Given the description of an element on the screen output the (x, y) to click on. 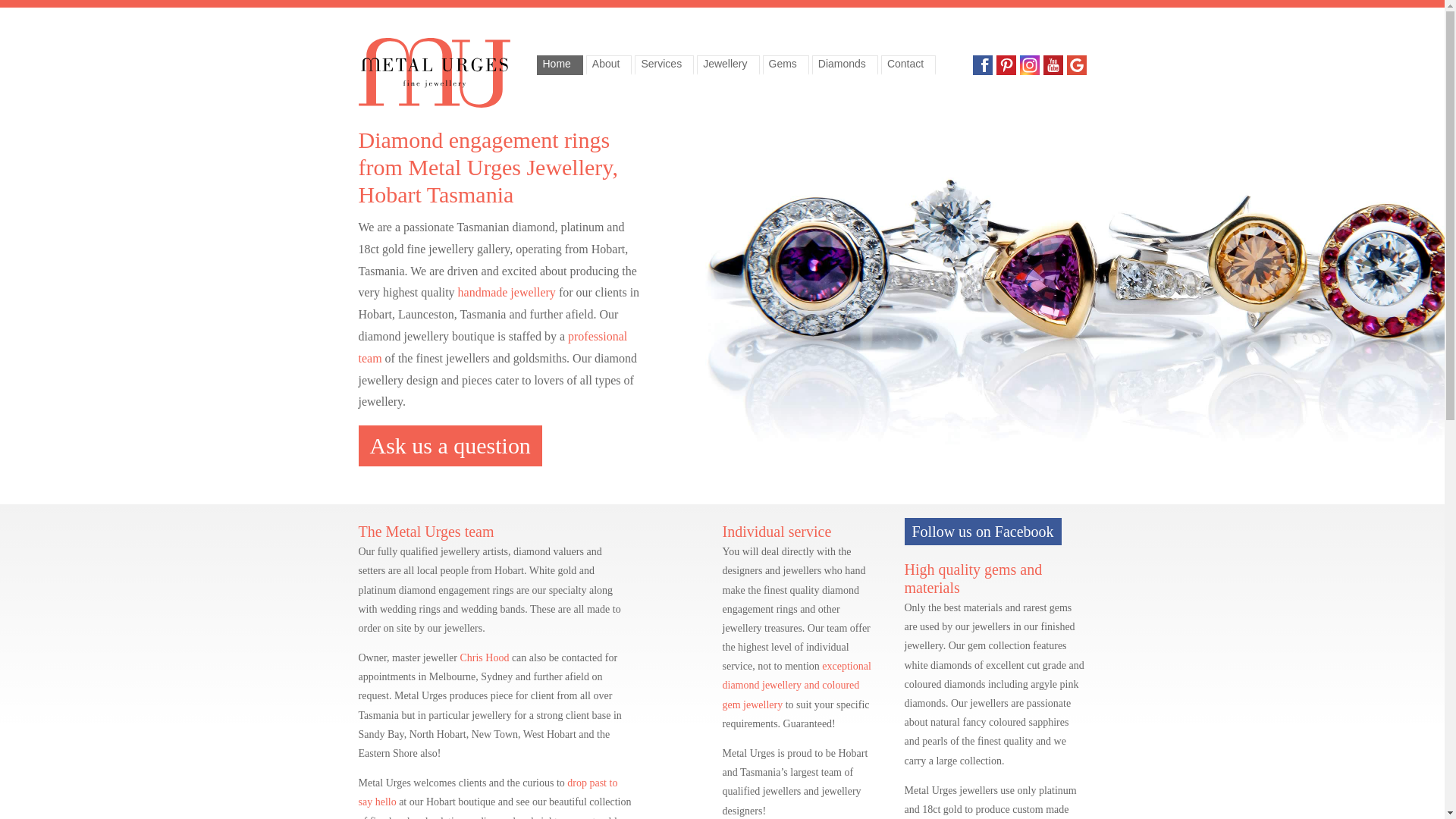
Contact Element type: text (908, 65)
professional team Element type: text (492, 346)
Follow us on Facebook Element type: text (981, 531)
About Element type: text (609, 65)
Diamonds Element type: text (845, 65)
drop past to say hello Element type: text (487, 792)
Chris Hood Element type: text (483, 657)
Ask us a question Element type: text (449, 445)
Services Element type: text (663, 65)
handmade jewellery Element type: text (506, 291)
Jewellery Element type: text (727, 65)
Gems Element type: text (785, 65)
Home Element type: text (559, 65)
exceptional diamond jewellery and coloured gem jewellery Element type: text (795, 684)
